Given the description of an element on the screen output the (x, y) to click on. 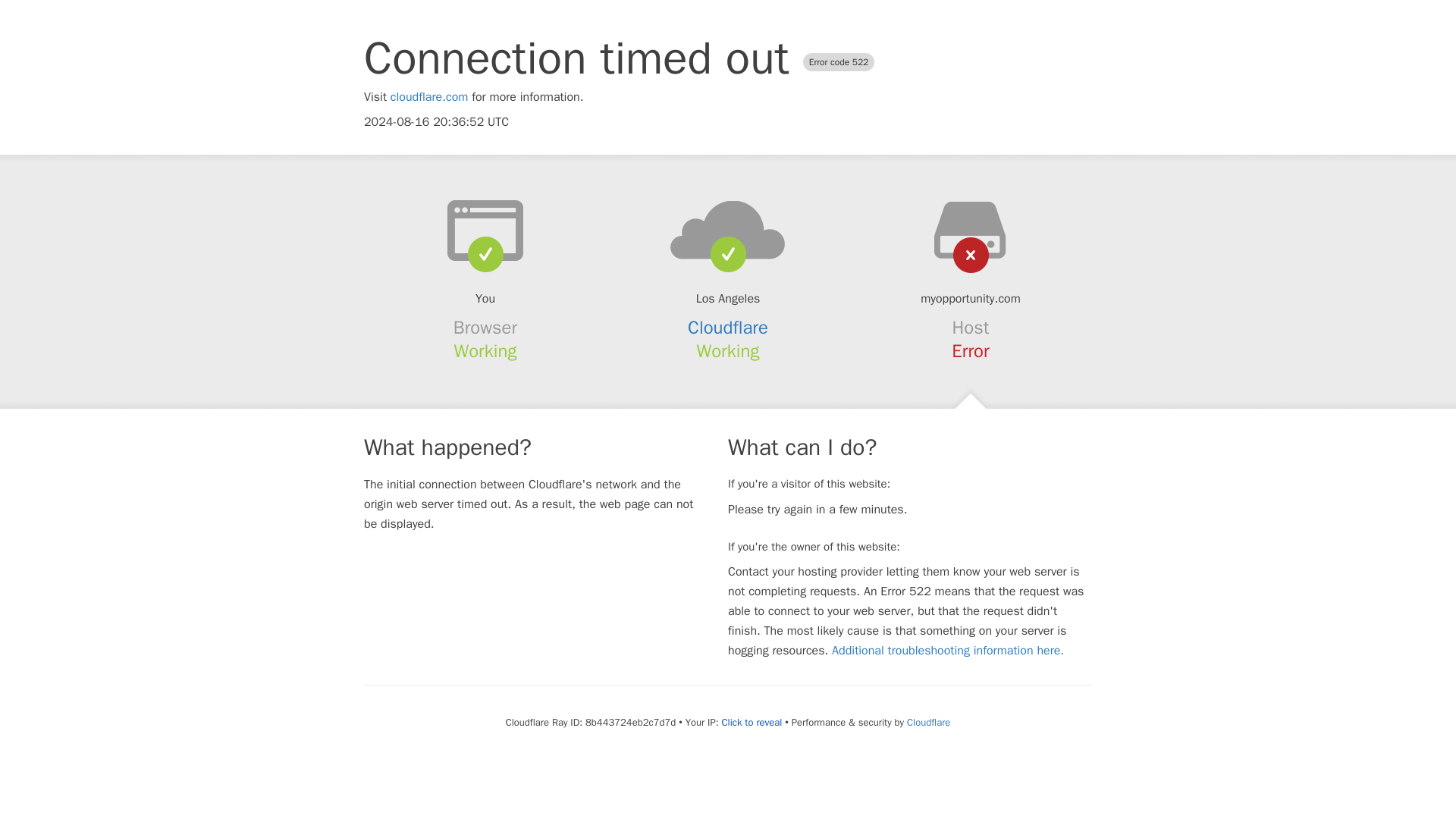
Cloudflare (928, 721)
cloudflare.com (429, 96)
Additional troubleshooting information here. (947, 650)
Click to reveal (750, 722)
Cloudflare (727, 327)
